Given the description of an element on the screen output the (x, y) to click on. 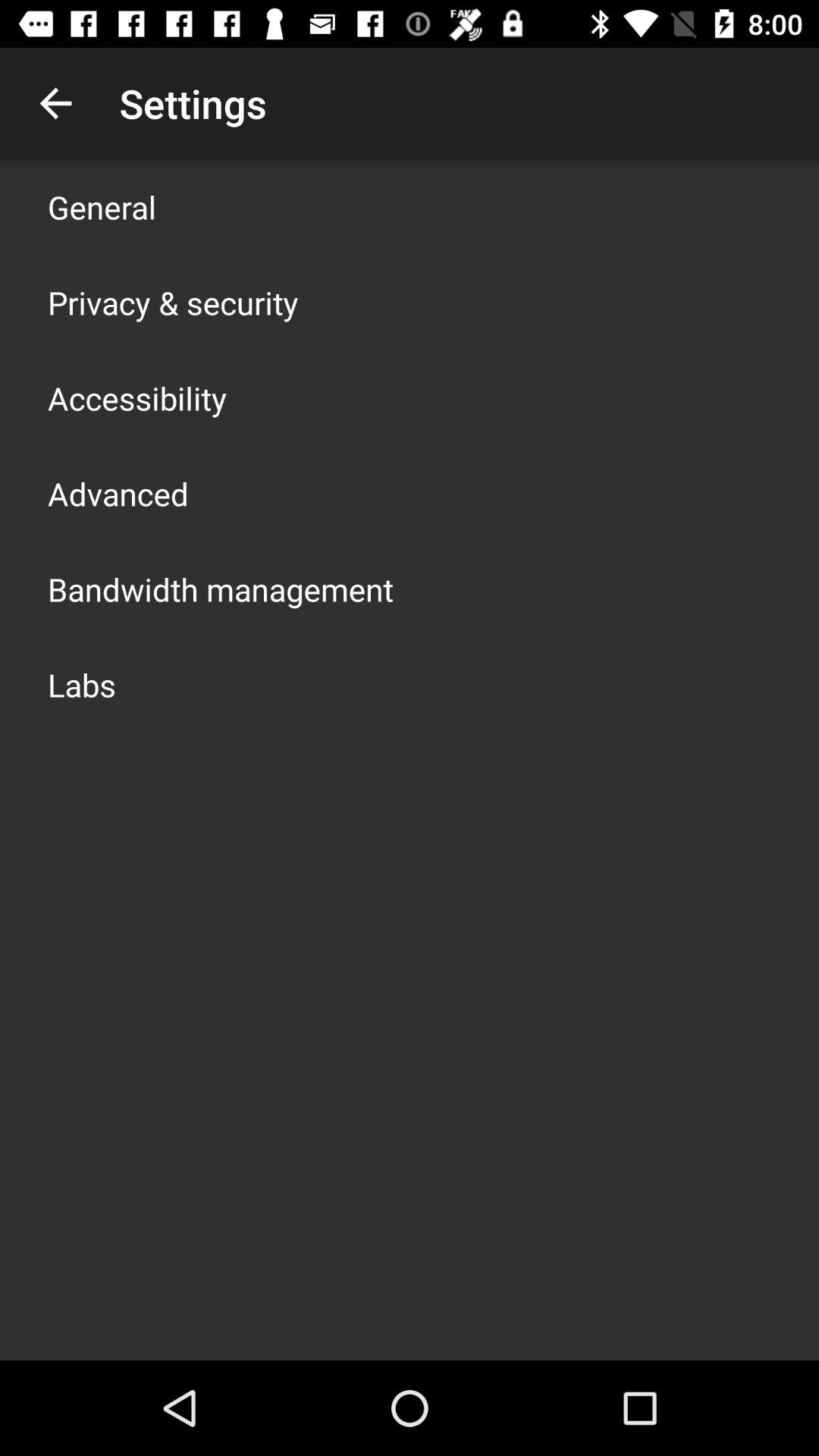
tap item to the left of settings icon (55, 103)
